Given the description of an element on the screen output the (x, y) to click on. 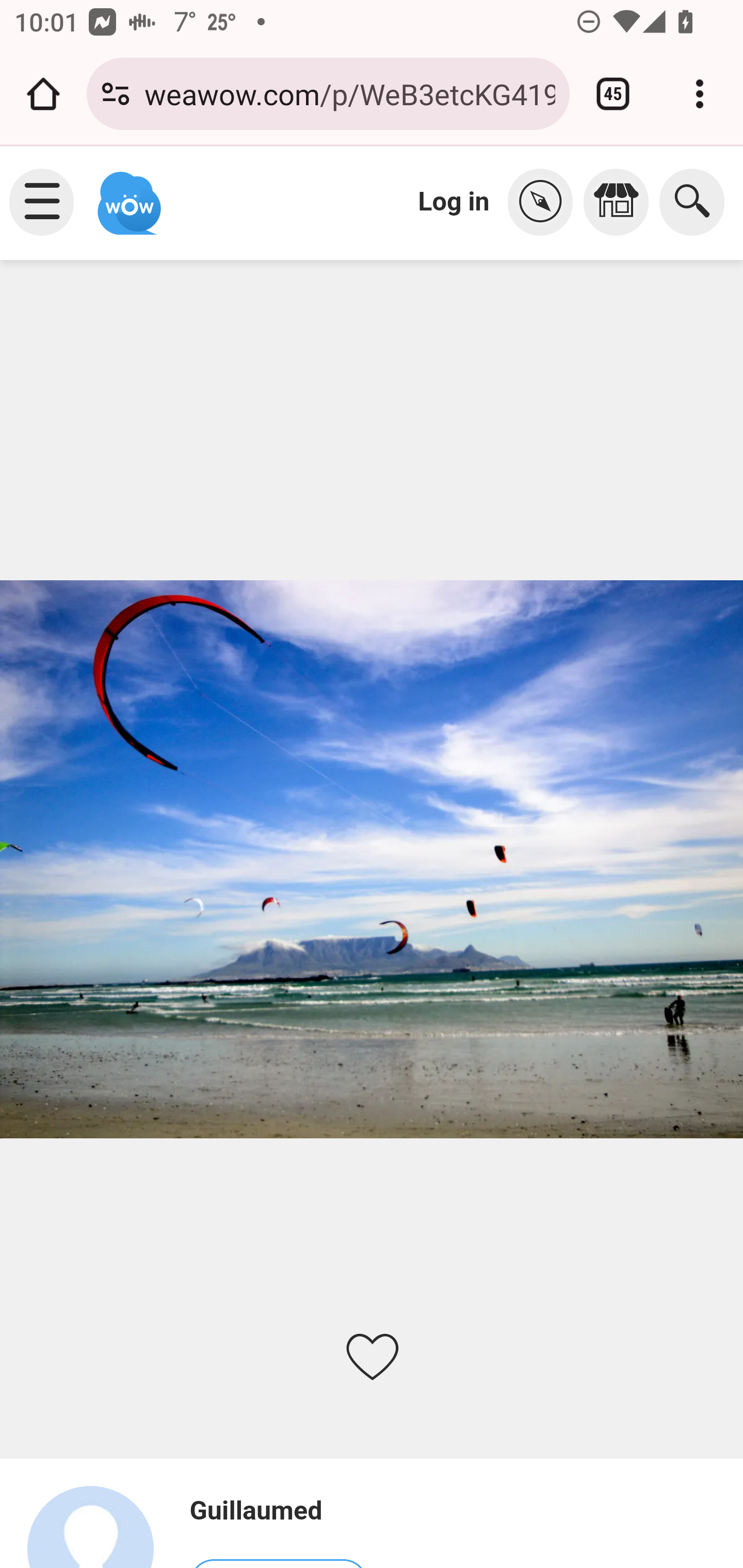
Open the home page (43, 93)
Connection is secure (115, 93)
Switch or close tabs (612, 93)
Customize and control Google Chrome (699, 93)
weawow.com/p/WeB3etcKG4190547 (349, 92)
Weawow (127, 194)
 (545, 201)
 (621, 201)
Log in (453, 201)
Guillaumed (99, 1525)
Guillaumed (277, 1510)
